Given the description of an element on the screen output the (x, y) to click on. 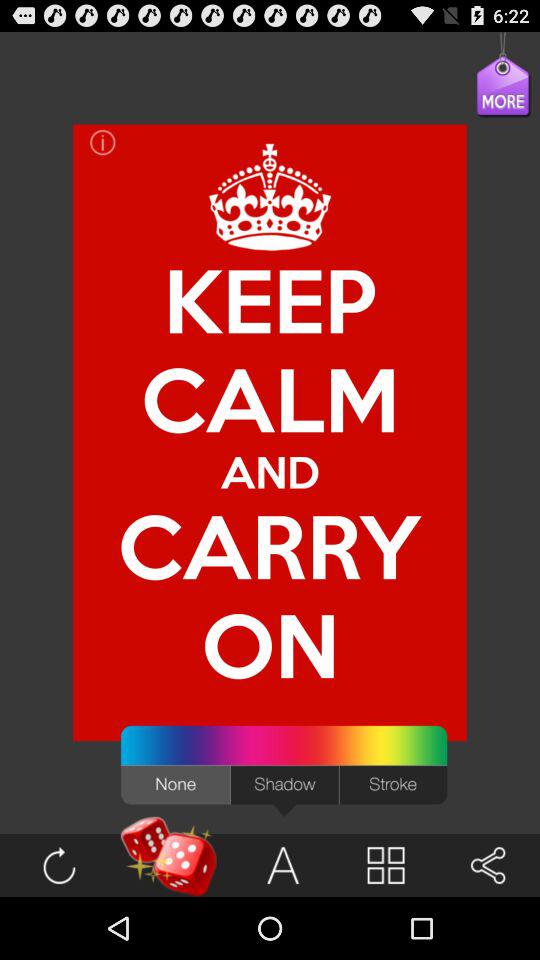
open the item at the top left corner (102, 141)
